Given the description of an element on the screen output the (x, y) to click on. 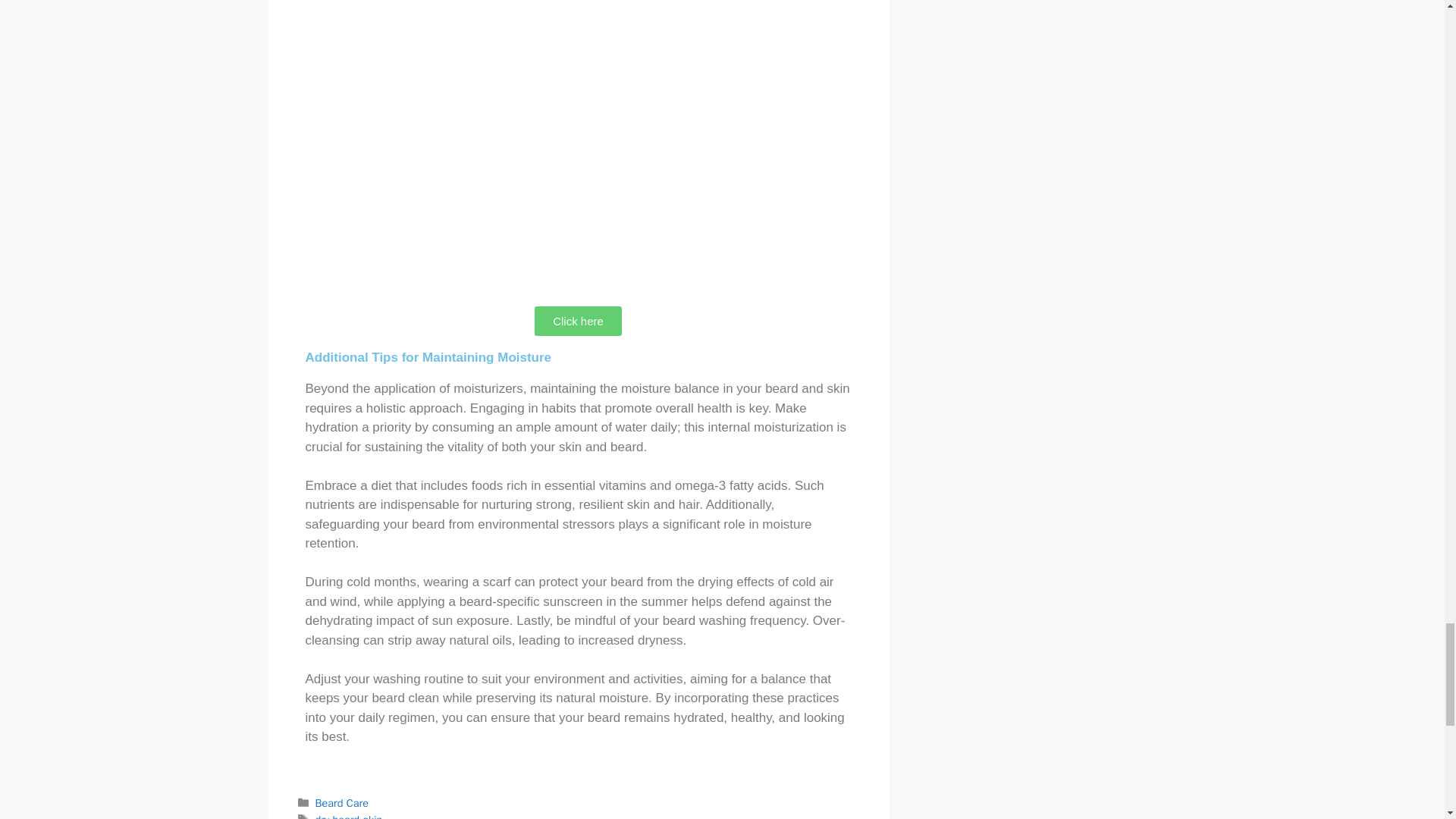
Click here (577, 320)
dry beard skin (348, 816)
Beard Care (341, 802)
